Given the description of an element on the screen output the (x, y) to click on. 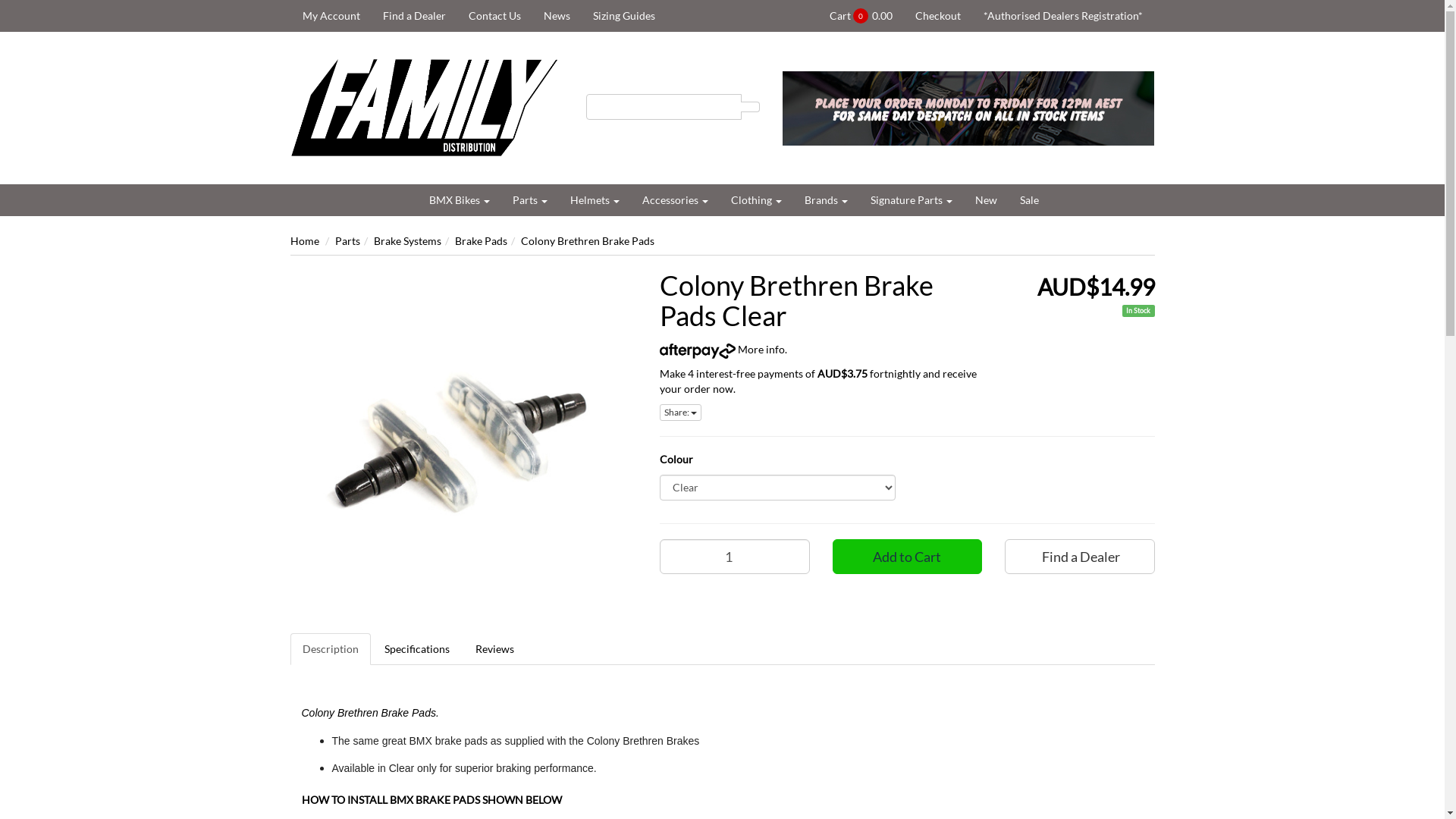
Checkout Element type: text (937, 15)
My Account Element type: text (331, 15)
Family Distribution Element type: hover (425, 106)
Find a Dealer Element type: text (414, 15)
Parts Element type: text (347, 240)
Cart 0 0.00 Element type: text (860, 15)
Sale Element type: text (1029, 200)
Home Element type: text (303, 240)
Sizing Guides Element type: text (622, 15)
Clothing Element type: text (755, 200)
New Element type: text (985, 200)
Specifications Element type: text (416, 649)
Colony Brethren Brake Pads Element type: text (586, 240)
Add to Cart Element type: text (907, 556)
Search Element type: text (749, 106)
News Element type: text (556, 15)
Description Element type: text (329, 649)
BMX Bikes Element type: text (458, 200)
Contact Us Element type: text (493, 15)
Helmets Element type: text (594, 200)
Accessories Element type: text (674, 200)
*Authorised Dealers Registration* Element type: text (1063, 15)
Share: Element type: text (680, 412)
Parts Element type: text (529, 200)
Brands Element type: text (826, 200)
Brake Pads Element type: text (481, 240)
Reviews Element type: text (493, 649)
 Find a Dealer Element type: text (1079, 556)
More info Element type: text (721, 348)
Brake Systems Element type: text (406, 240)
Signature Parts Element type: text (910, 200)
